Given the description of an element on the screen output the (x, y) to click on. 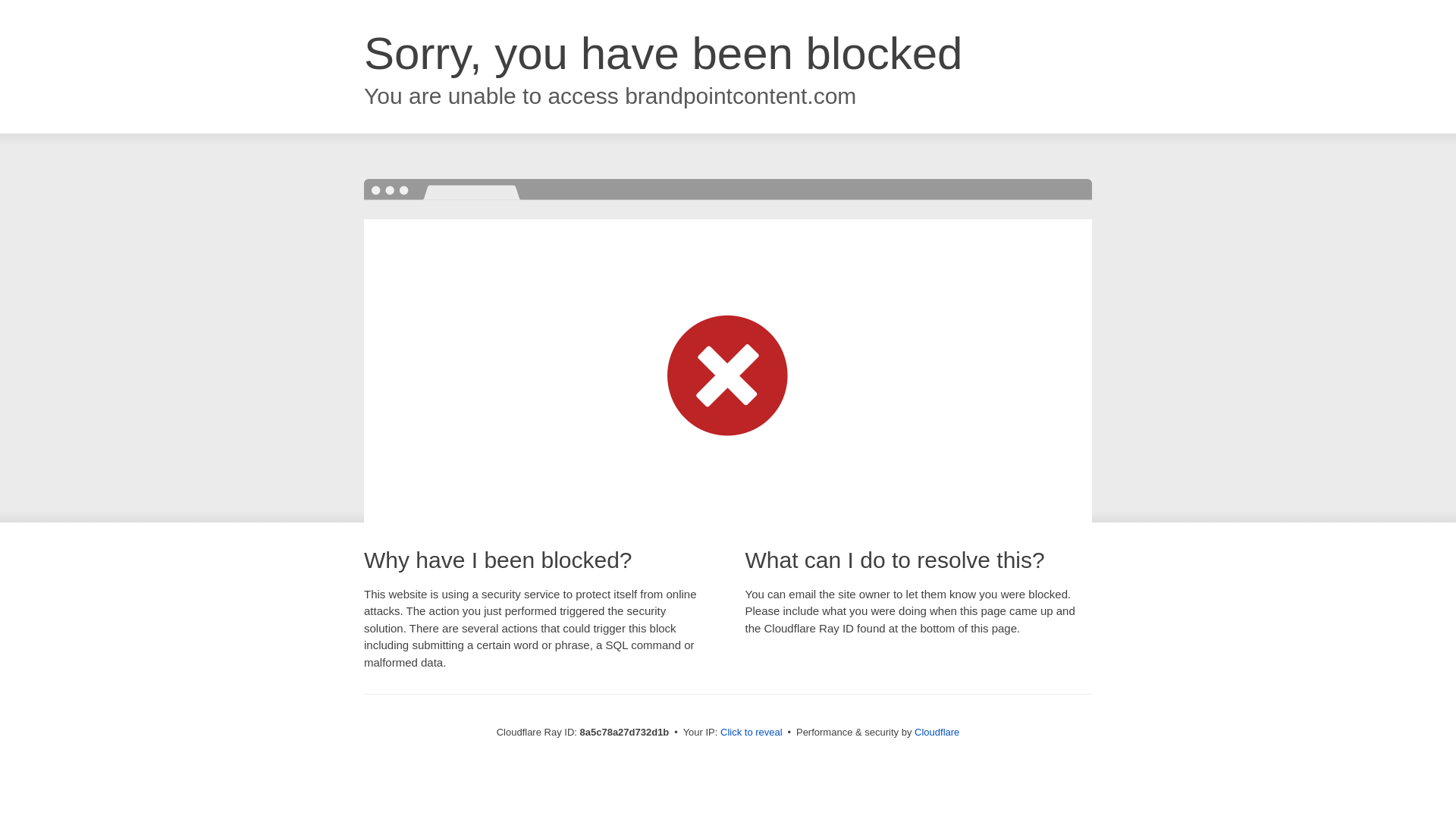
Click to reveal (751, 732)
Cloudflare (936, 731)
